Given the description of an element on the screen output the (x, y) to click on. 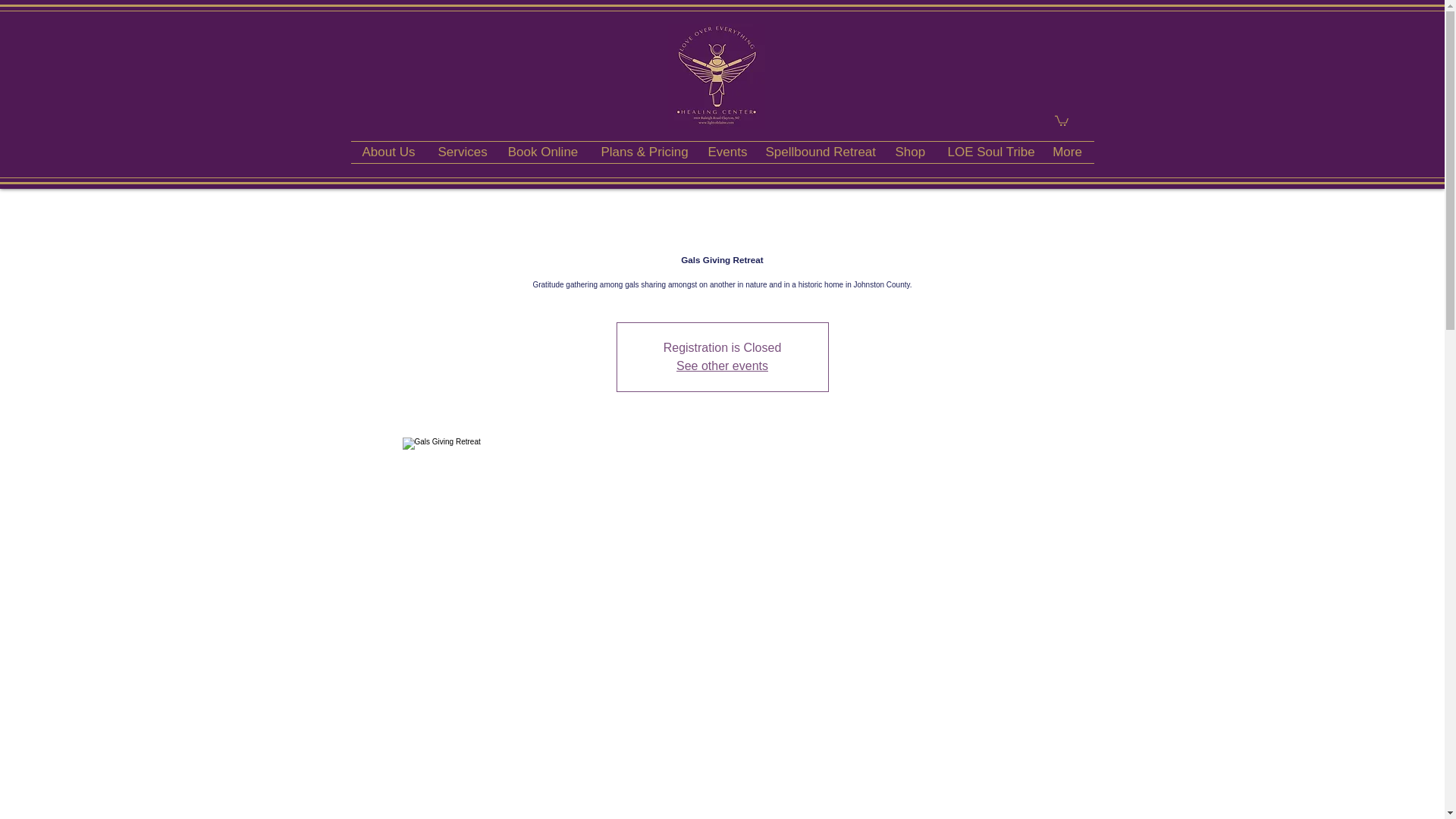
About Us (388, 151)
Events (724, 151)
LOE Soul Tribe (988, 151)
Shop (909, 151)
Services (461, 151)
Book Online (542, 151)
See other events (722, 365)
Spellbound Retreat (818, 151)
